Given the description of an element on the screen output the (x, y) to click on. 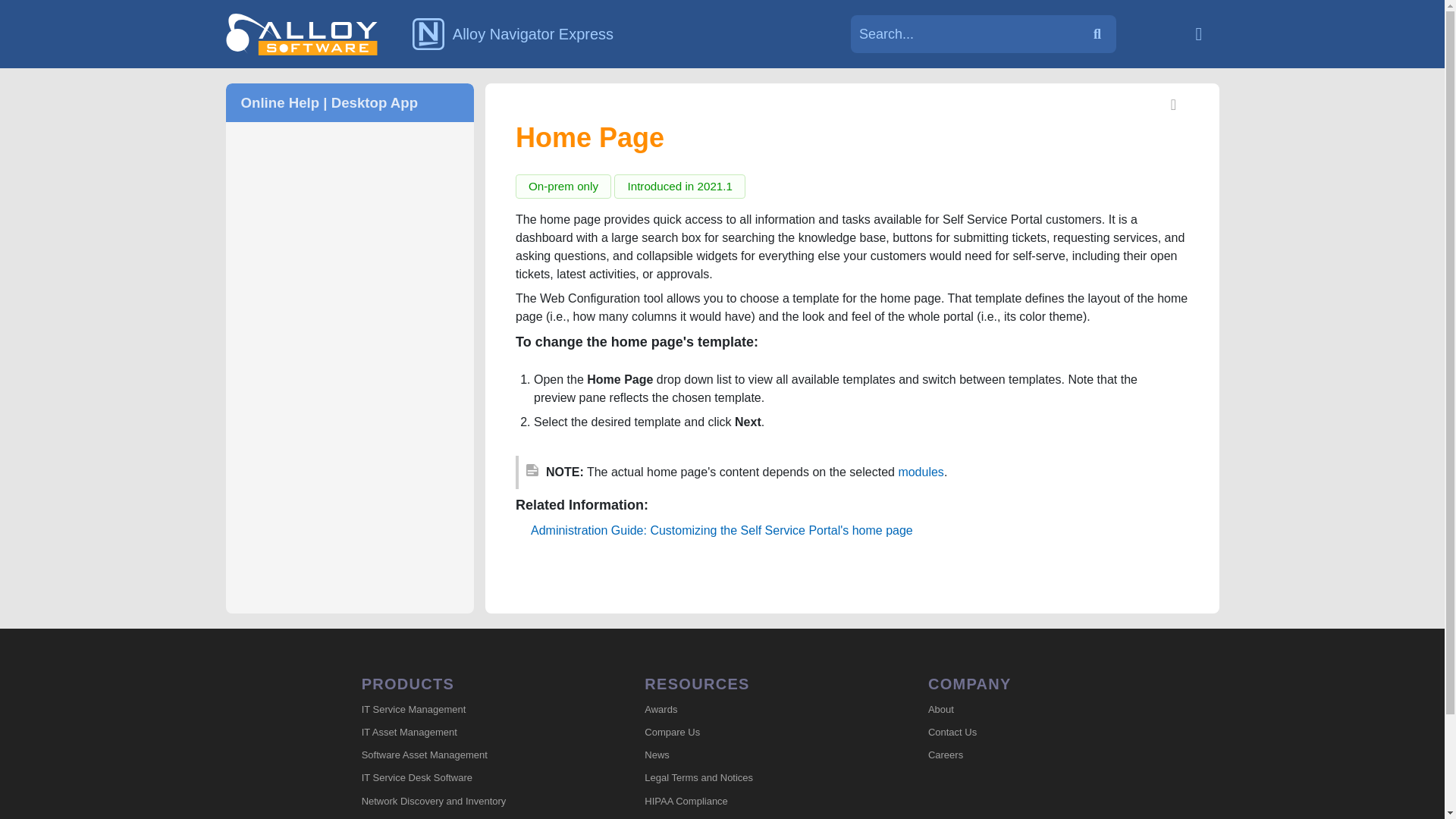
Careers (1034, 755)
Network Discovery and Inventory (468, 801)
About (1034, 709)
Compare Us (751, 732)
Contact Us (1034, 732)
IT Service Management (468, 709)
IT Asset Management (468, 732)
IT Service Desk Software (468, 778)
News (751, 755)
Software Asset Management (468, 755)
Print (1173, 105)
modules (920, 472)
Back to Home (1198, 33)
GDPR Compliance (751, 816)
